Given the description of an element on the screen output the (x, y) to click on. 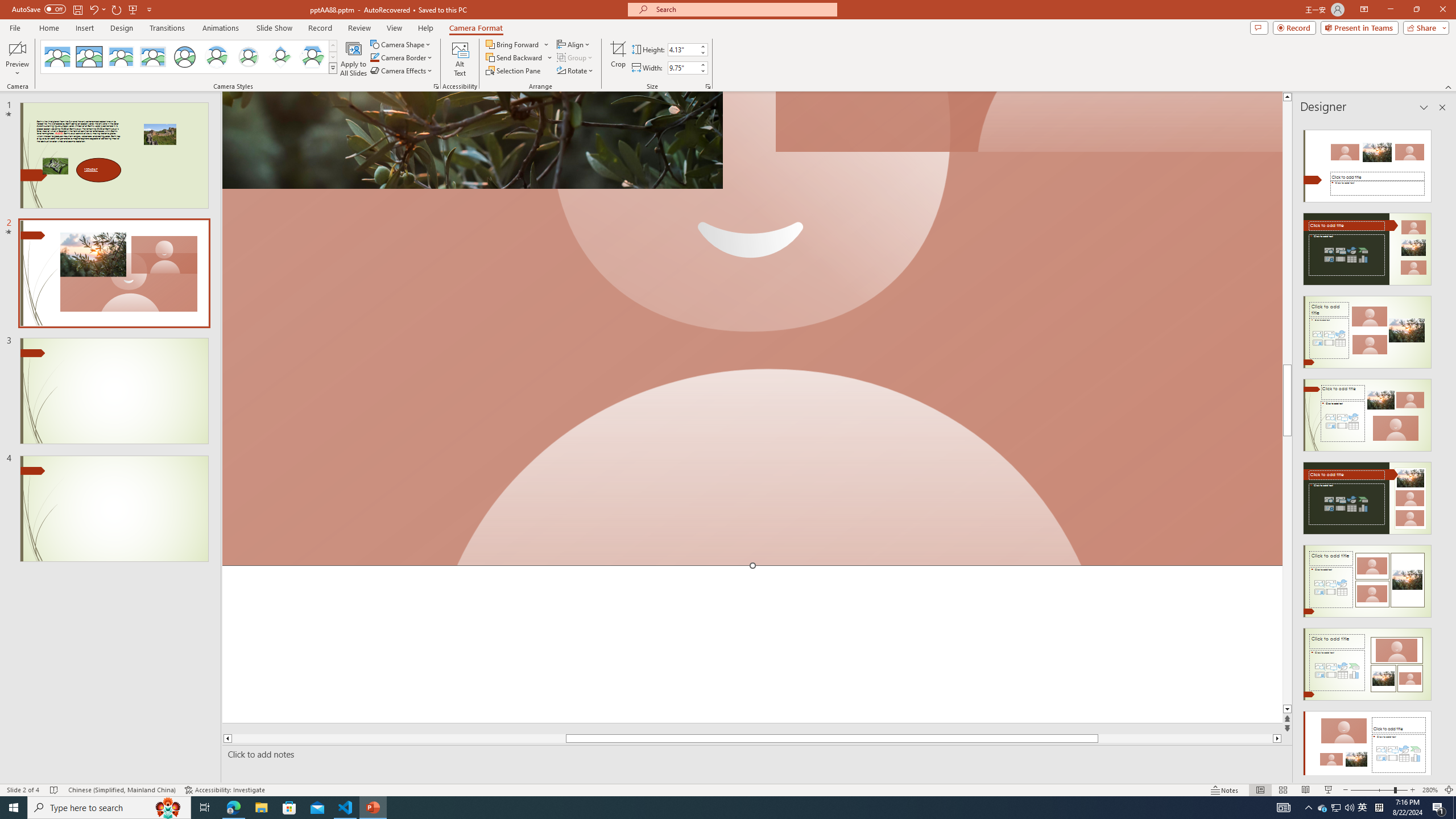
Class: NetUIScrollBar (1441, 447)
Bring Forward (513, 44)
Center Shadow Diamond (280, 56)
